Given the description of an element on the screen output the (x, y) to click on. 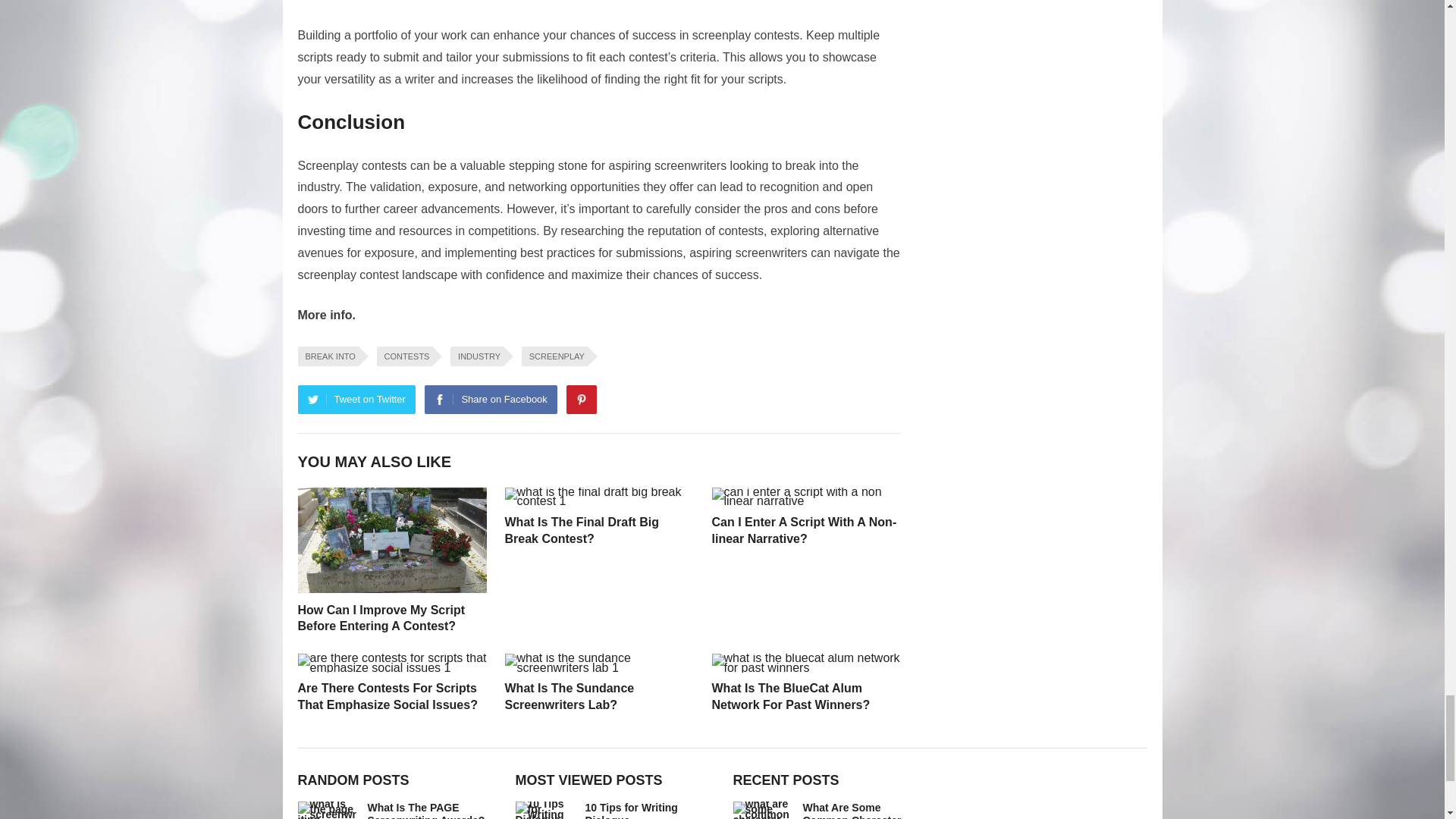
What Is The BlueCat Alum Network For Past Winners? 12 (805, 663)
How Can I Improve My Script Before Entering A Contest? 2 (391, 539)
INDUSTRY (476, 356)
Tweet on Twitter (355, 399)
BREAK INTO (327, 356)
Share on Facebook (490, 399)
More info. (326, 314)
Pinterest (581, 399)
What Is The Final Draft Big Break Contest? 4 (599, 496)
